Given the description of an element on the screen output the (x, y) to click on. 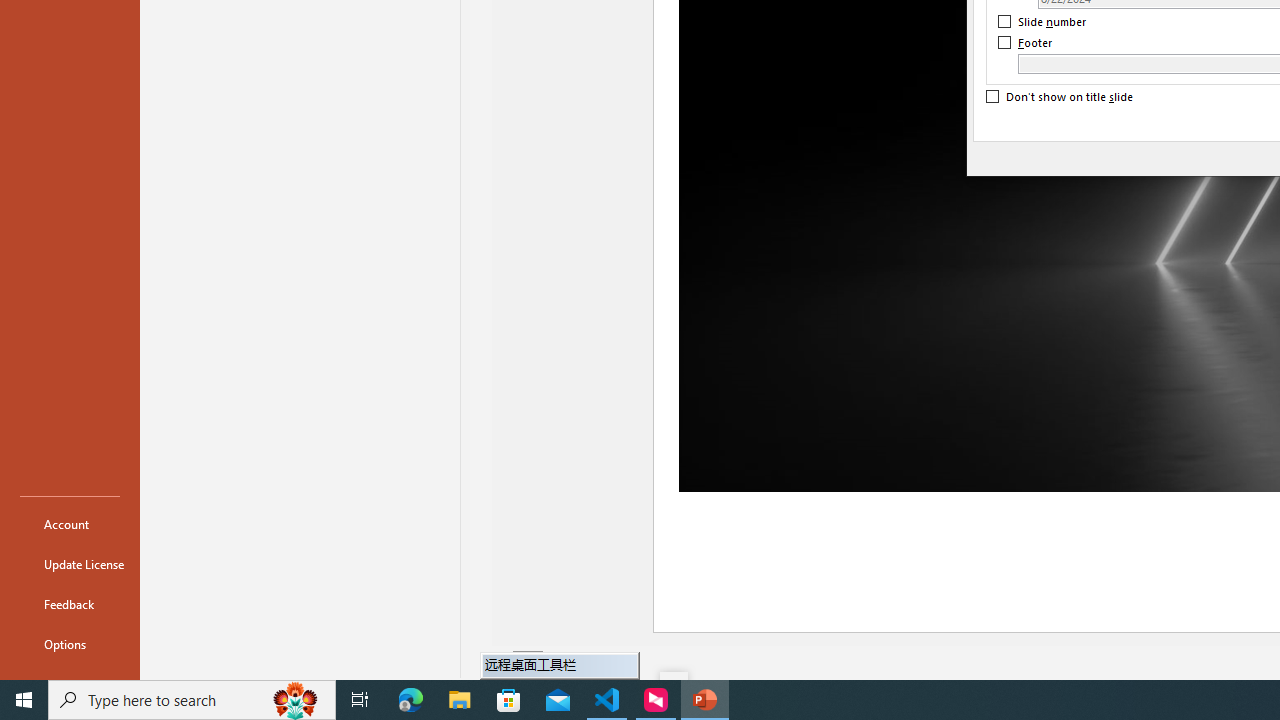
Next Page (579, 662)
Account (69, 523)
